Given the description of an element on the screen output the (x, y) to click on. 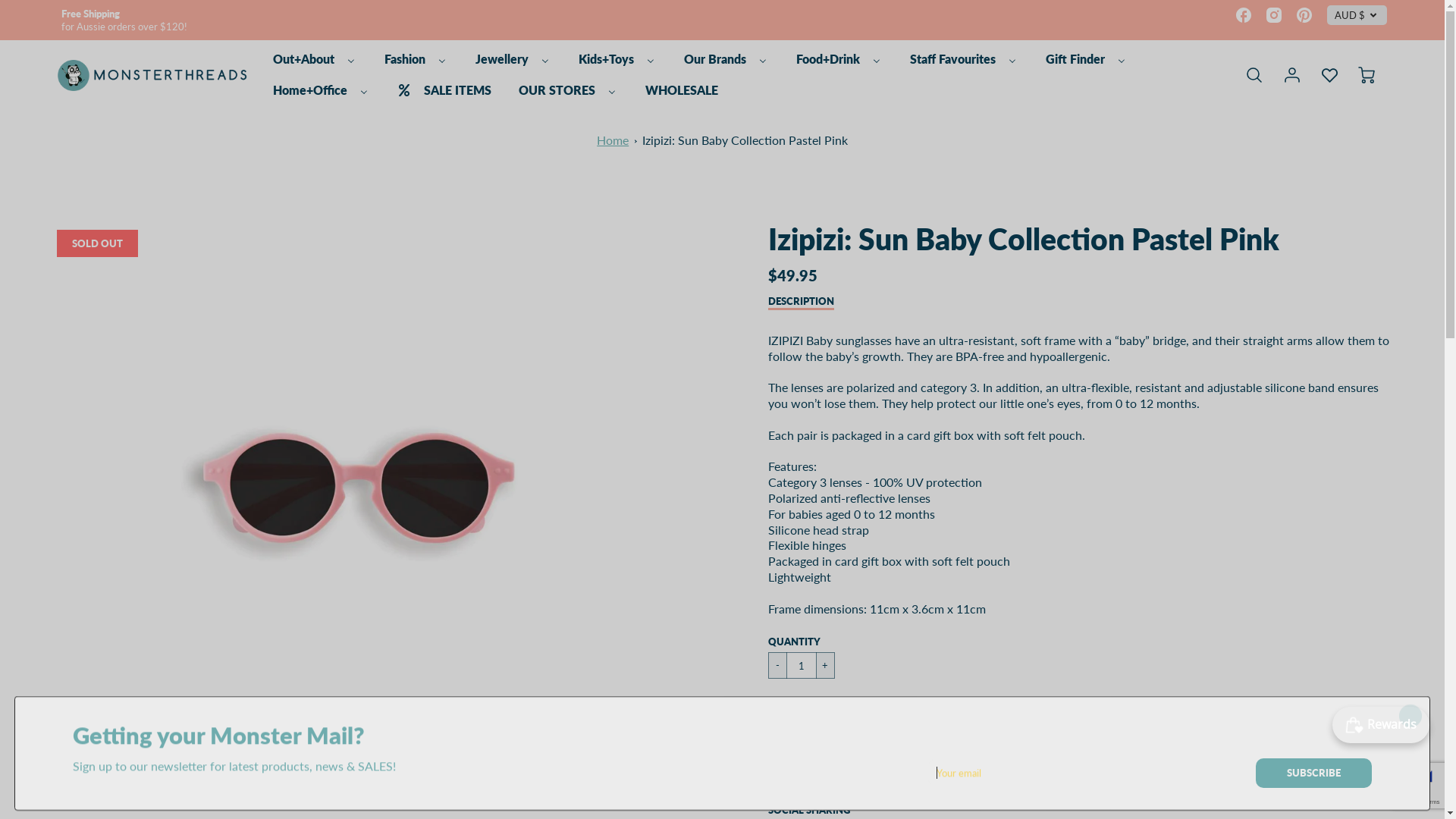
Fashion Element type: text (415, 59)
SUBSCRIBE Element type: text (1313, 772)
SALE ITEMS Element type: text (443, 90)
Jewellery Element type: text (512, 59)
Staff Favourites Element type: text (962, 59)
Monsterthreads on Instagram Element type: text (1273, 14)
Kids+Toys Element type: text (616, 59)
OUR STORES Element type: text (567, 90)
Out+About Element type: text (313, 59)
Account Login Element type: text (1292, 75)
Home+Office Element type: text (320, 90)
Add to Wishlist Element type: text (816, 783)
Our Brands Element type: text (725, 59)
SOLD OUT Element type: text (808, 714)
Izipizi: Sun Baby Collection Pastel Pink Element type: text (744, 139)
WHOLESALE Element type: text (680, 90)
AUD $ Element type: text (1356, 15)
Monsterthreads on Facebook Element type: text (1243, 14)
Gift Finder Element type: text (1085, 59)
Food+Drink Element type: text (838, 59)
Monsterthreads on Pinterest Element type: text (1303, 14)
Cart Element type: text (1367, 75)
Home Element type: text (612, 139)
